Given the description of an element on the screen output the (x, y) to click on. 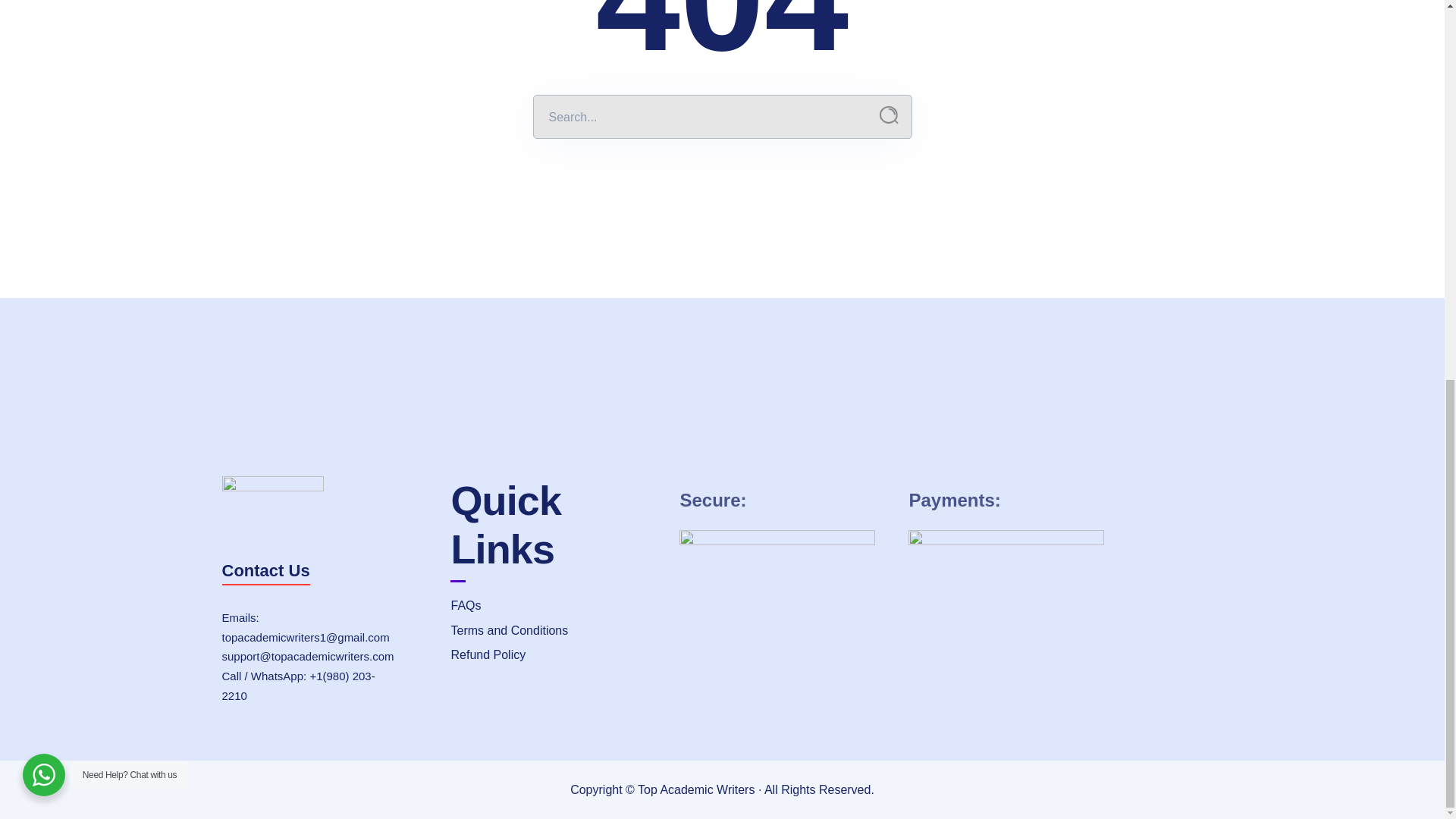
Terms and Conditions (552, 630)
Need Help? Chat with us (44, 69)
Search... (888, 115)
Refund Policy (552, 655)
FAQs (552, 605)
